Given the description of an element on the screen output the (x, y) to click on. 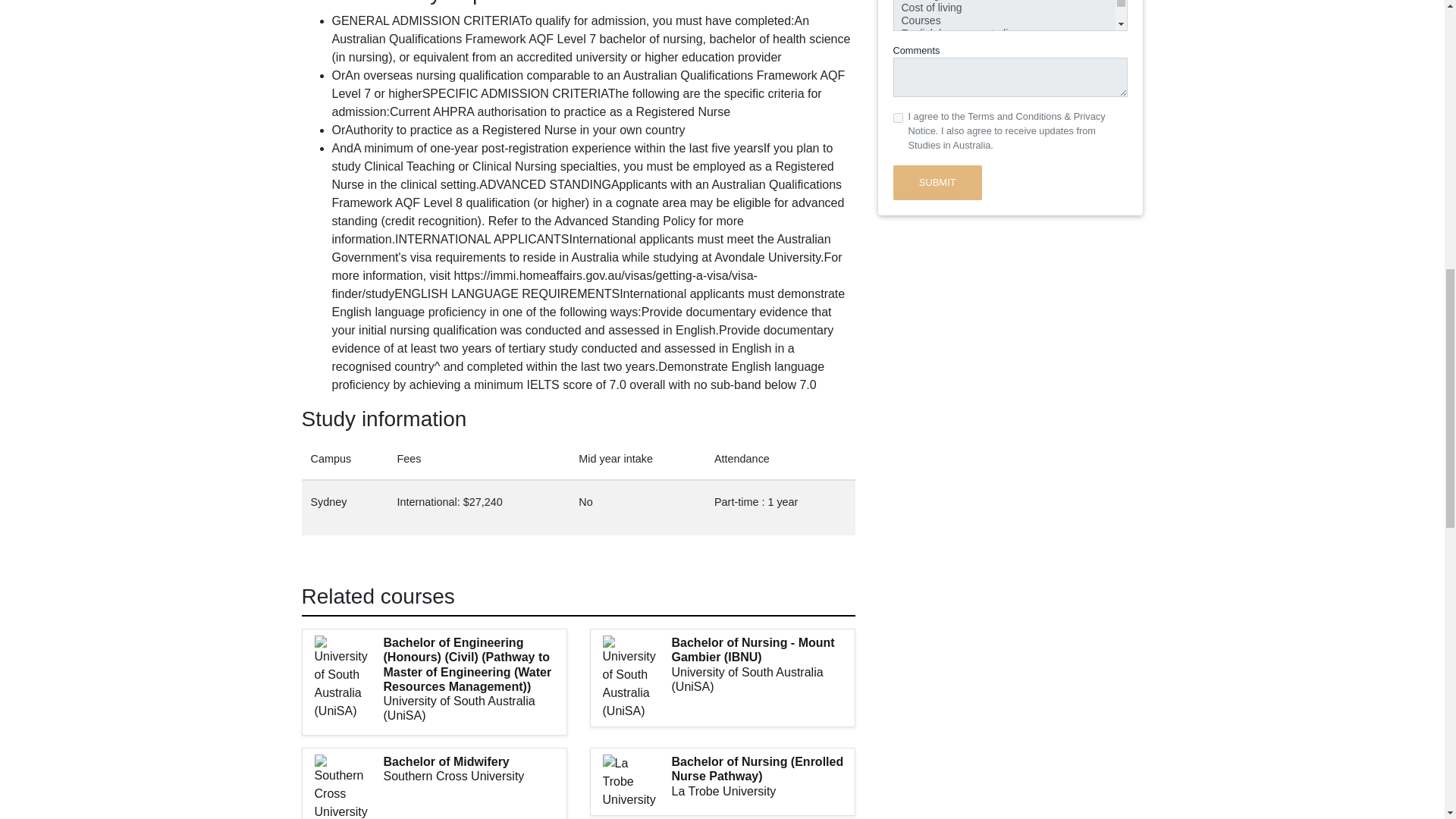
SUBMIT (937, 182)
Southern Cross University (475, 775)
La Trobe University (762, 790)
yes (897, 117)
Bachelor of Midwifery (475, 761)
